Given the description of an element on the screen output the (x, y) to click on. 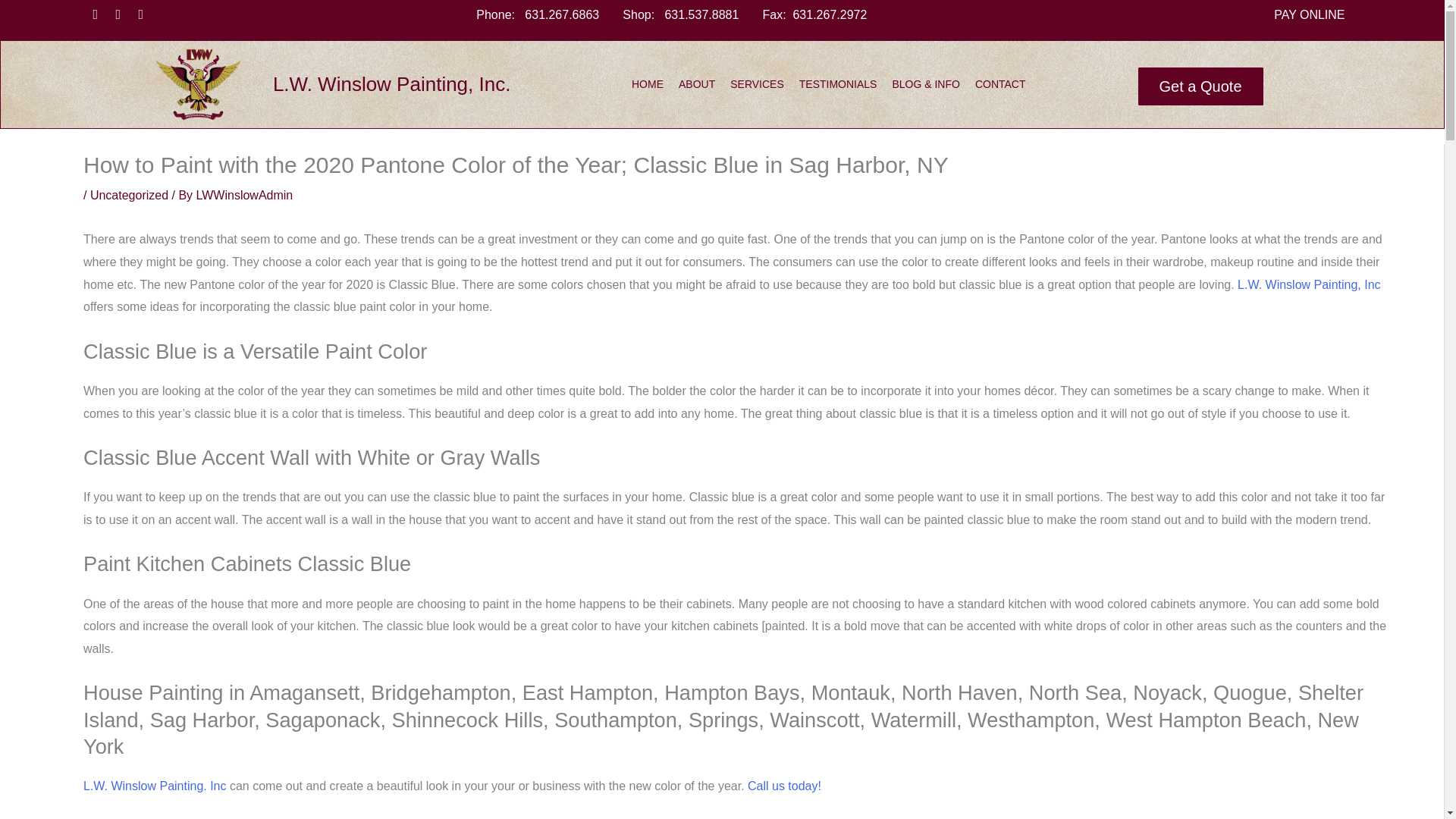
SERVICES (756, 84)
View all posts by LWWinslowAdmin (245, 195)
L.W. Winslow Painting, Inc. (392, 83)
TESTIMONIALS (837, 84)
631.267.6863 (561, 14)
Pay My Invoice (747, 314)
L.W. Winslow Painting, Inc. (392, 83)
631.537.8881 (700, 14)
CONTACT (1000, 84)
ABOUT (697, 84)
HOME (646, 84)
